Given the description of an element on the screen output the (x, y) to click on. 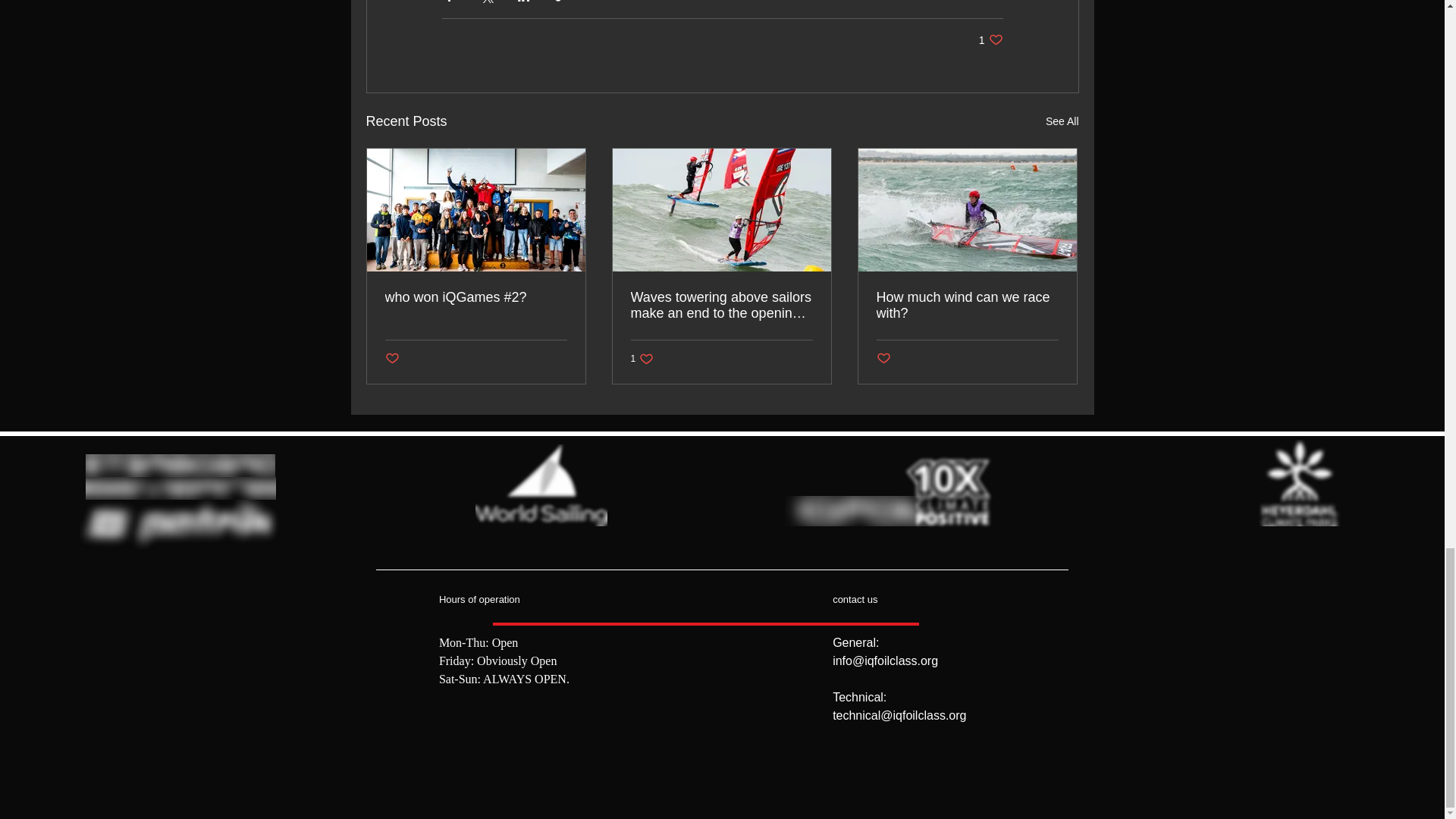
See All (1061, 121)
Post not marked as liked (990, 39)
